Given the description of an element on the screen output the (x, y) to click on. 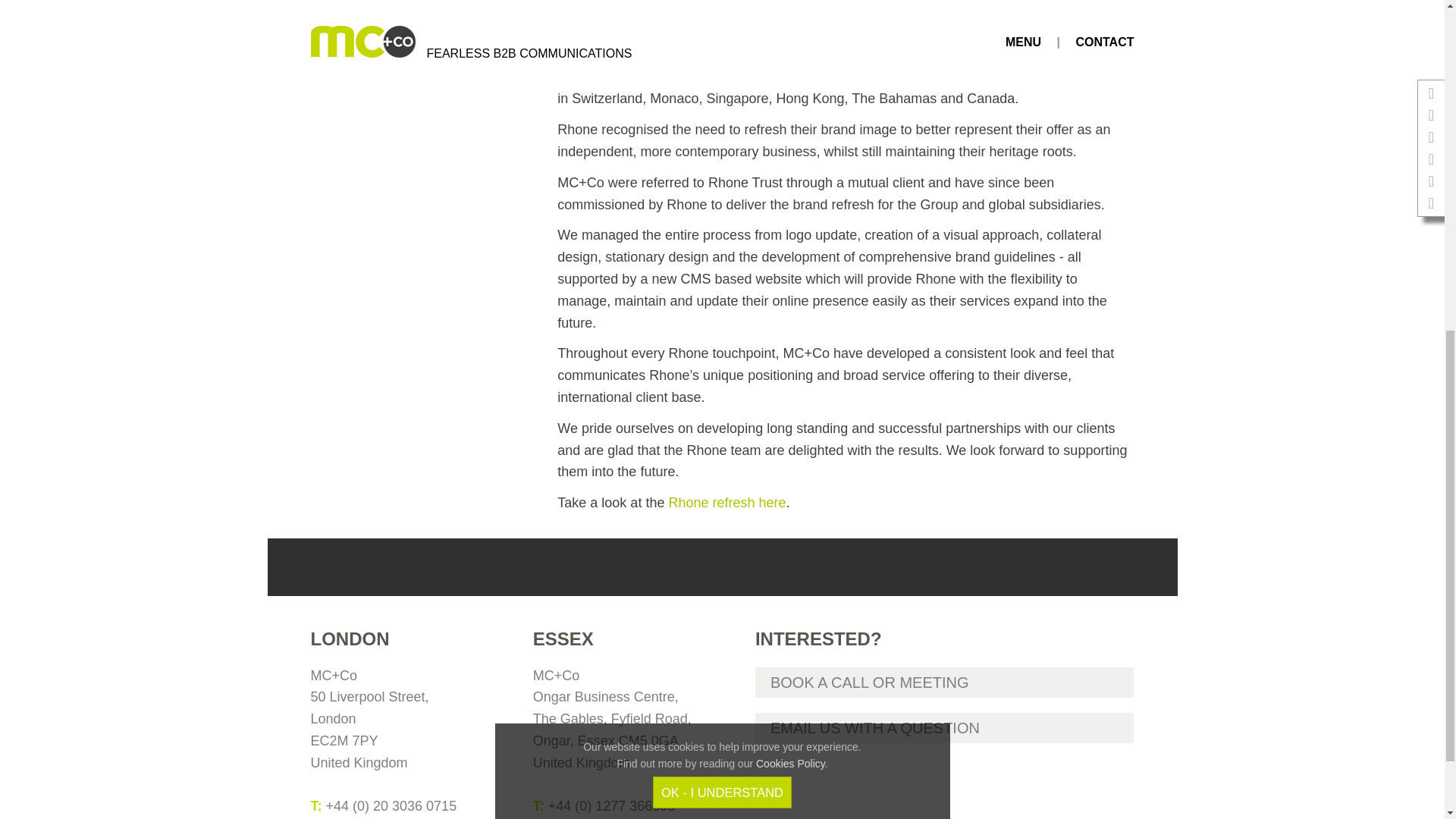
OK - I Understand (722, 184)
Rhone refresh here (727, 502)
BOOK A CALL OR MEETING (944, 682)
EMAIL US WITH A QUESTION (944, 727)
